Given the description of an element on the screen output the (x, y) to click on. 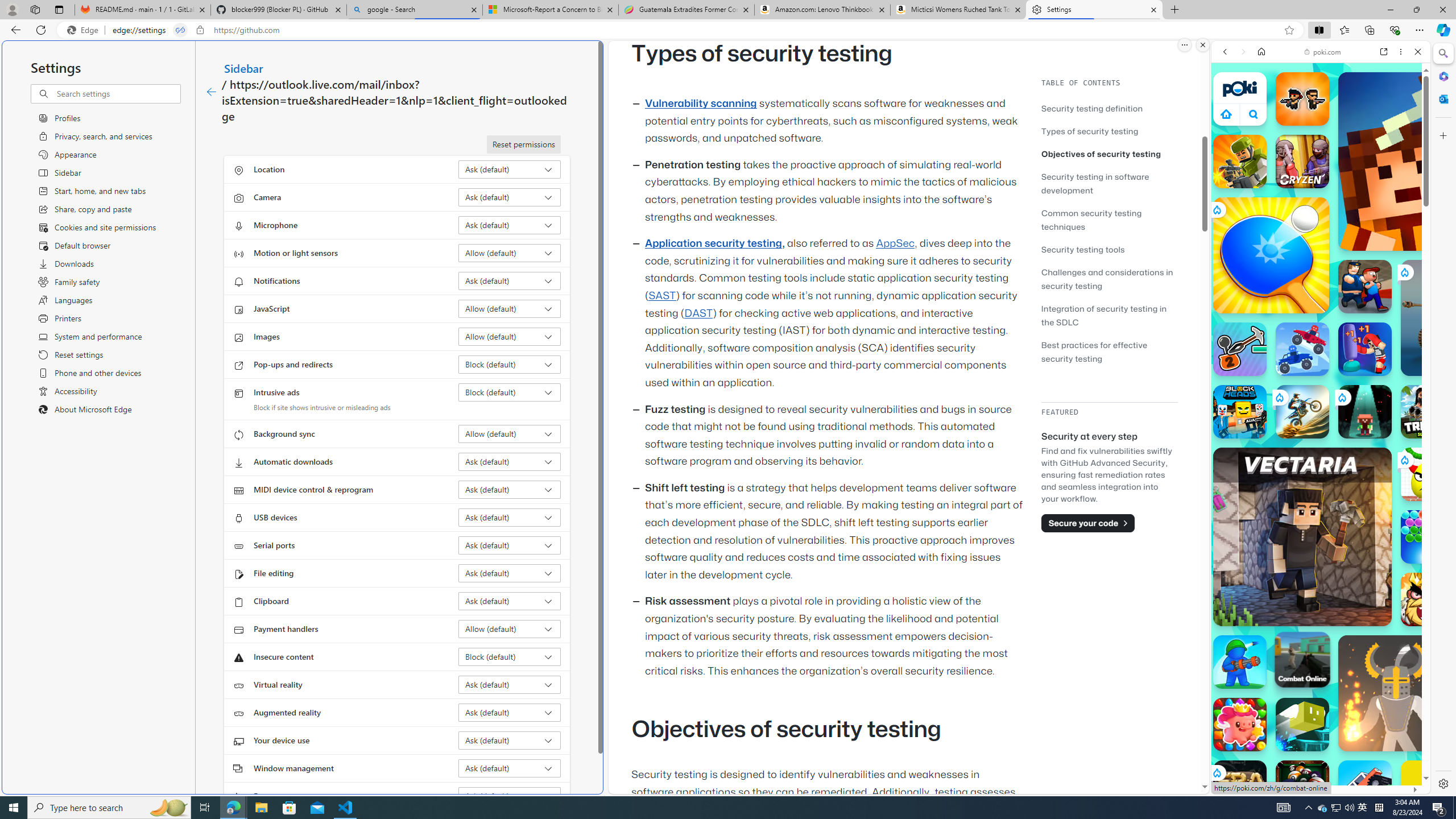
USB devices Ask (default) (509, 517)
Augmented reality Ask (default) (509, 712)
Show More Shooting Games (1390, 296)
Security testing in software development (1109, 183)
Notifications Ask (default) (509, 280)
Types of security testing (1109, 130)
Virtual reality Ask (default) (509, 684)
Like a King (1427, 599)
Automatic downloads Ask (default) (509, 461)
